Given the description of an element on the screen output the (x, y) to click on. 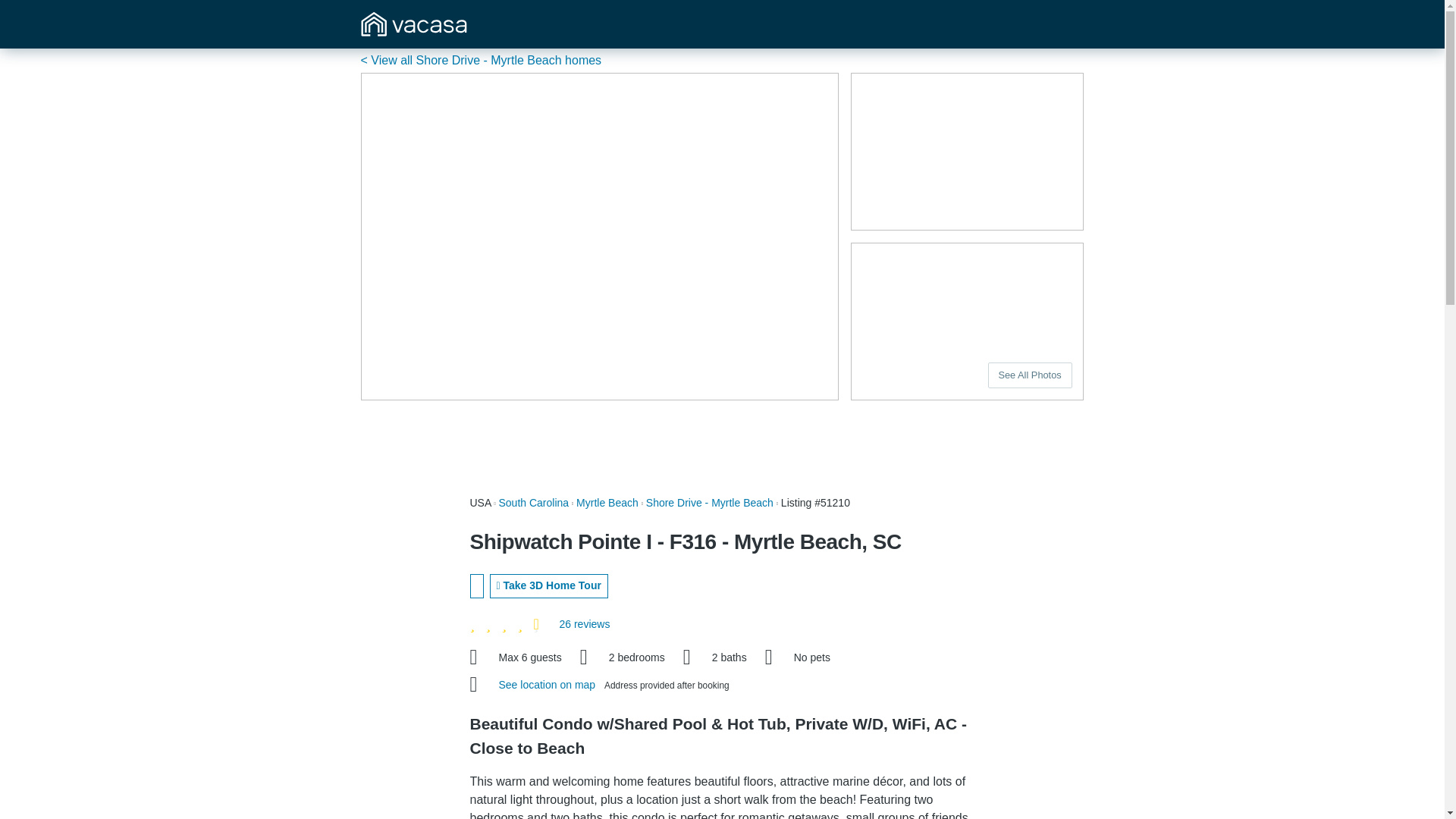
See location on map (548, 684)
Shore Drive - Myrtle Beach (709, 502)
Take 3D Home Tour (548, 586)
Myrtle Beach (607, 502)
See All Photos (1029, 375)
South Carolina (534, 502)
26 reviews (584, 623)
